Given the description of an element on the screen output the (x, y) to click on. 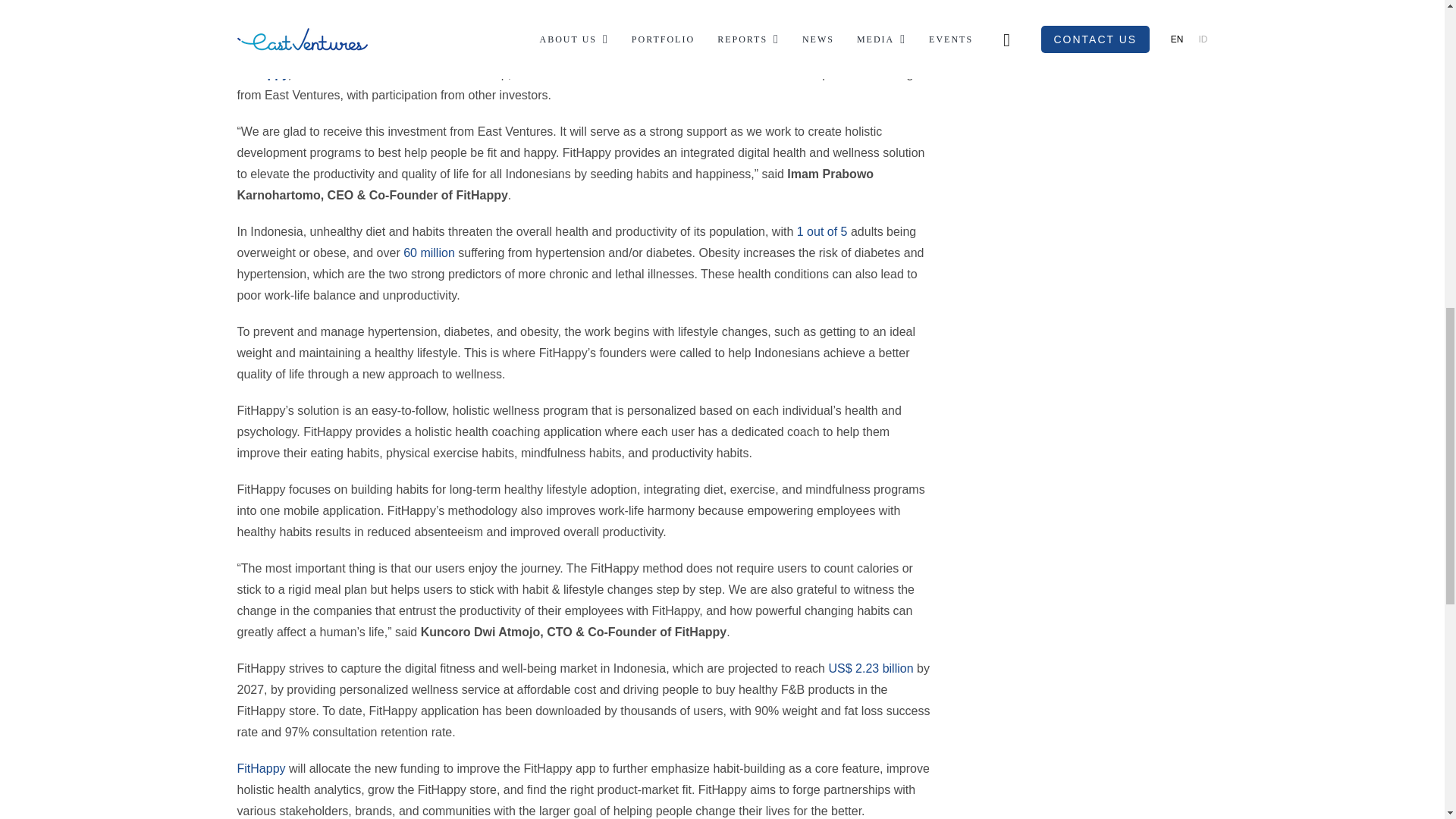
FitHappy (260, 768)
FitHappy (260, 73)
60 million (428, 252)
1 out of 5 (821, 231)
